Given the description of an element on the screen output the (x, y) to click on. 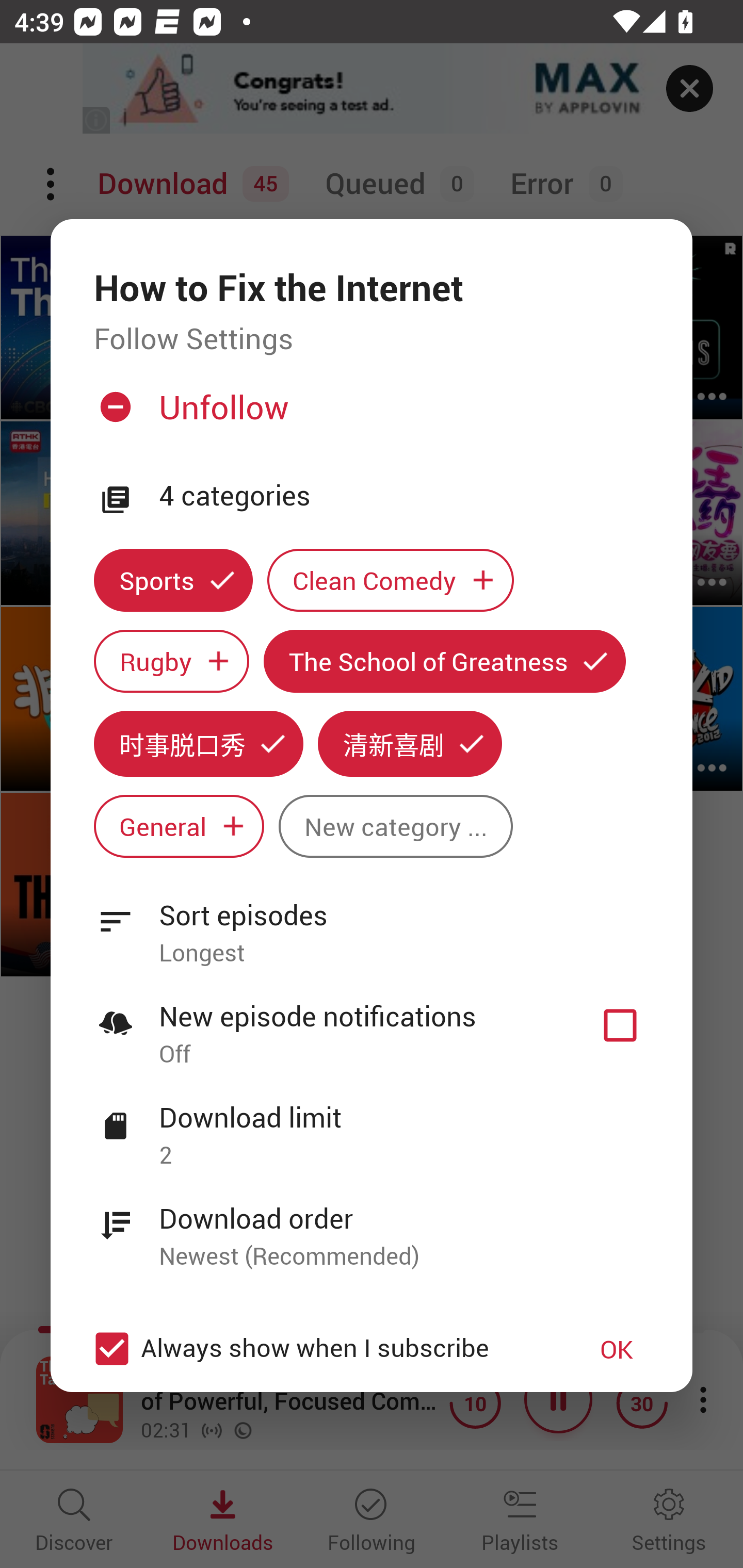
Unfollow (369, 415)
4 categories (404, 495)
Sports (172, 579)
Clean Comedy (390, 579)
Rugby (170, 661)
The School of Greatness (444, 661)
时事脱口秀 (198, 743)
清新喜剧 (410, 743)
General (178, 825)
New category ... (395, 825)
Sort episodes Longest (371, 922)
New episode notifications (620, 1025)
Download limit 2 (371, 1125)
Download order Newest (Recommended) (371, 1226)
OK (616, 1349)
Always show when I subscribe (320, 1349)
